Given the description of an element on the screen output the (x, y) to click on. 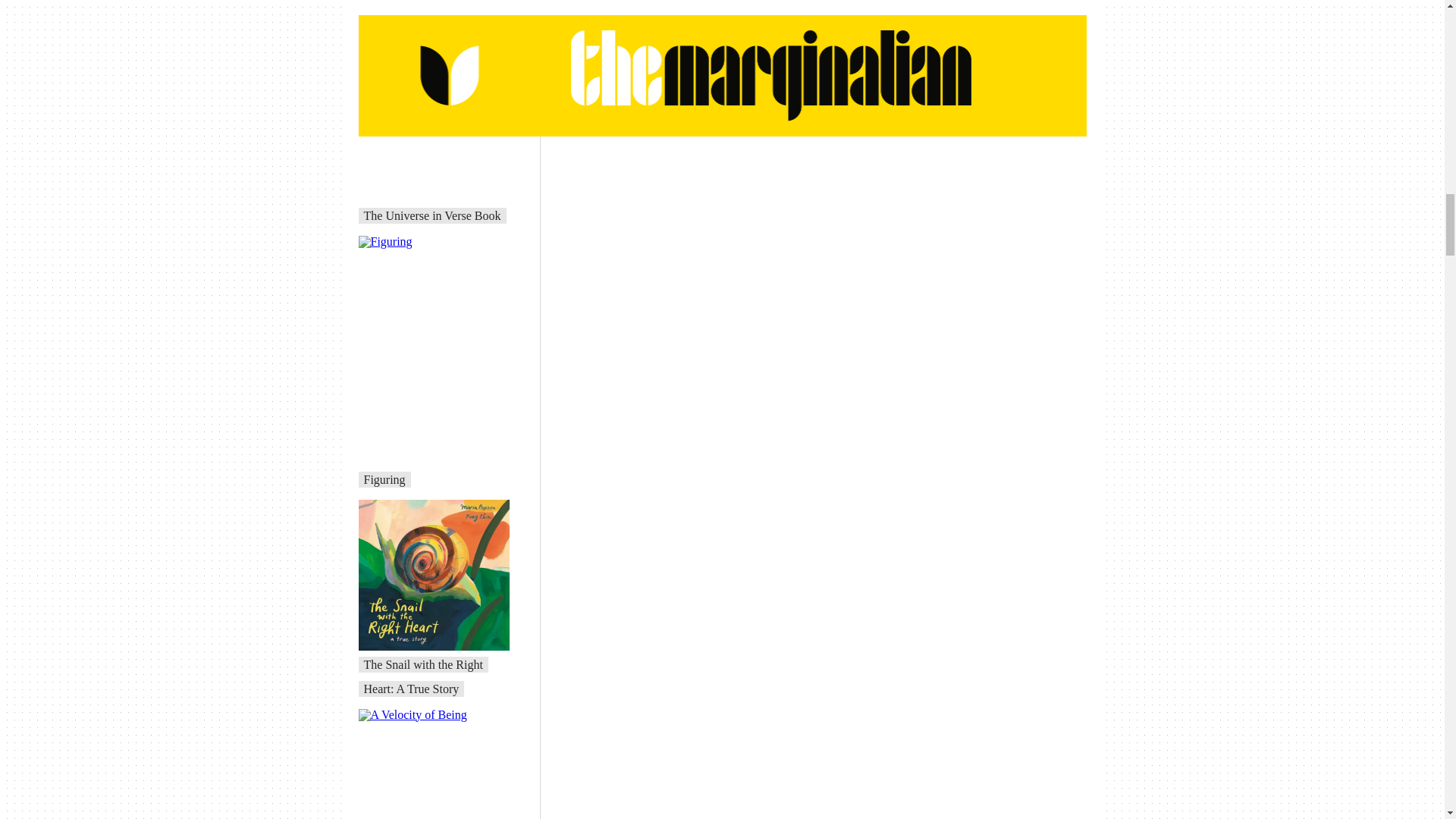
Figuring (385, 479)
The Snail with the Right Heart: A True Story (423, 676)
The Universe in Verse Book (432, 215)
